Given the description of an element on the screen output the (x, y) to click on. 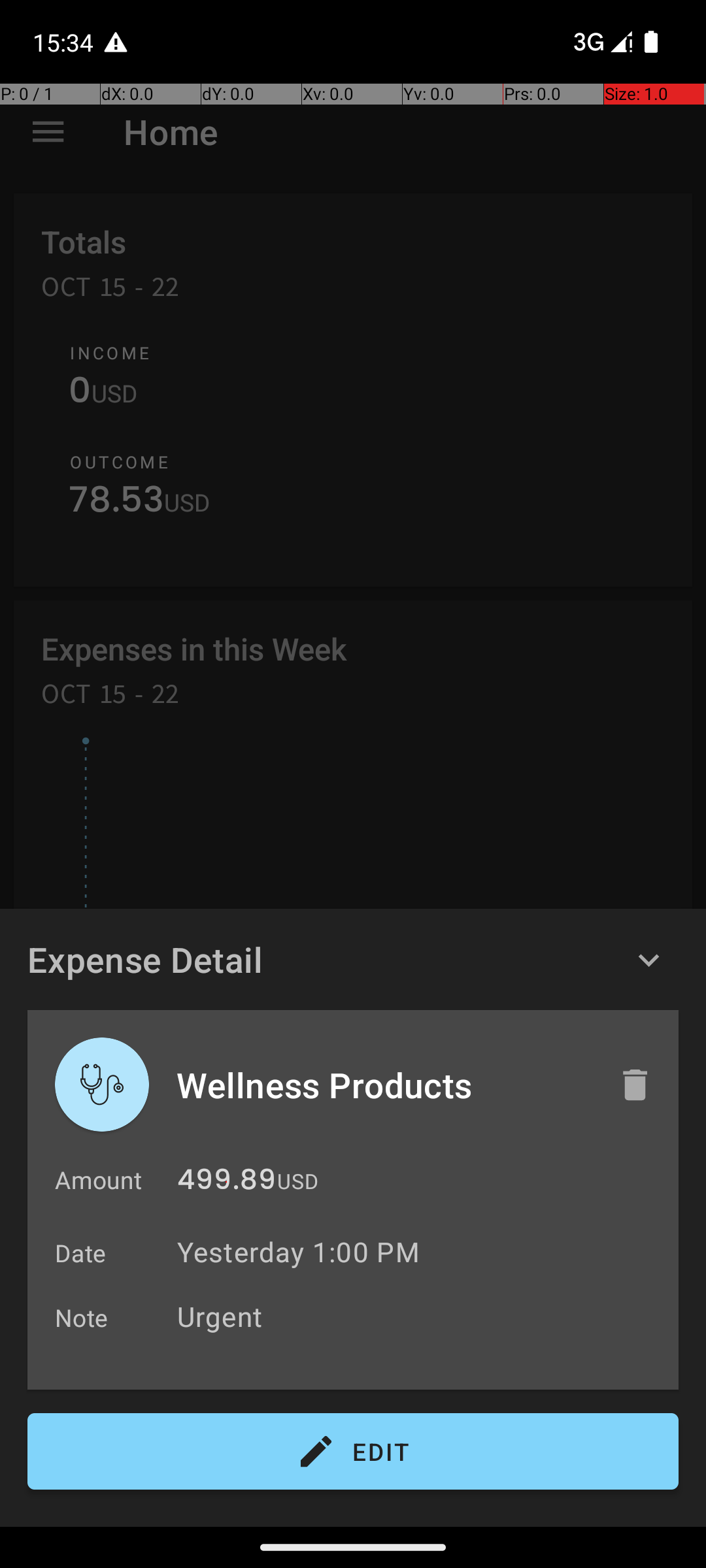
Wellness Products Element type: android.widget.TextView (383, 1084)
499.89 Element type: android.widget.TextView (226, 1182)
Yesterday 1:00 PM Element type: android.widget.TextView (298, 1251)
Urgent Element type: android.widget.TextView (420, 1315)
